Given the description of an element on the screen output the (x, y) to click on. 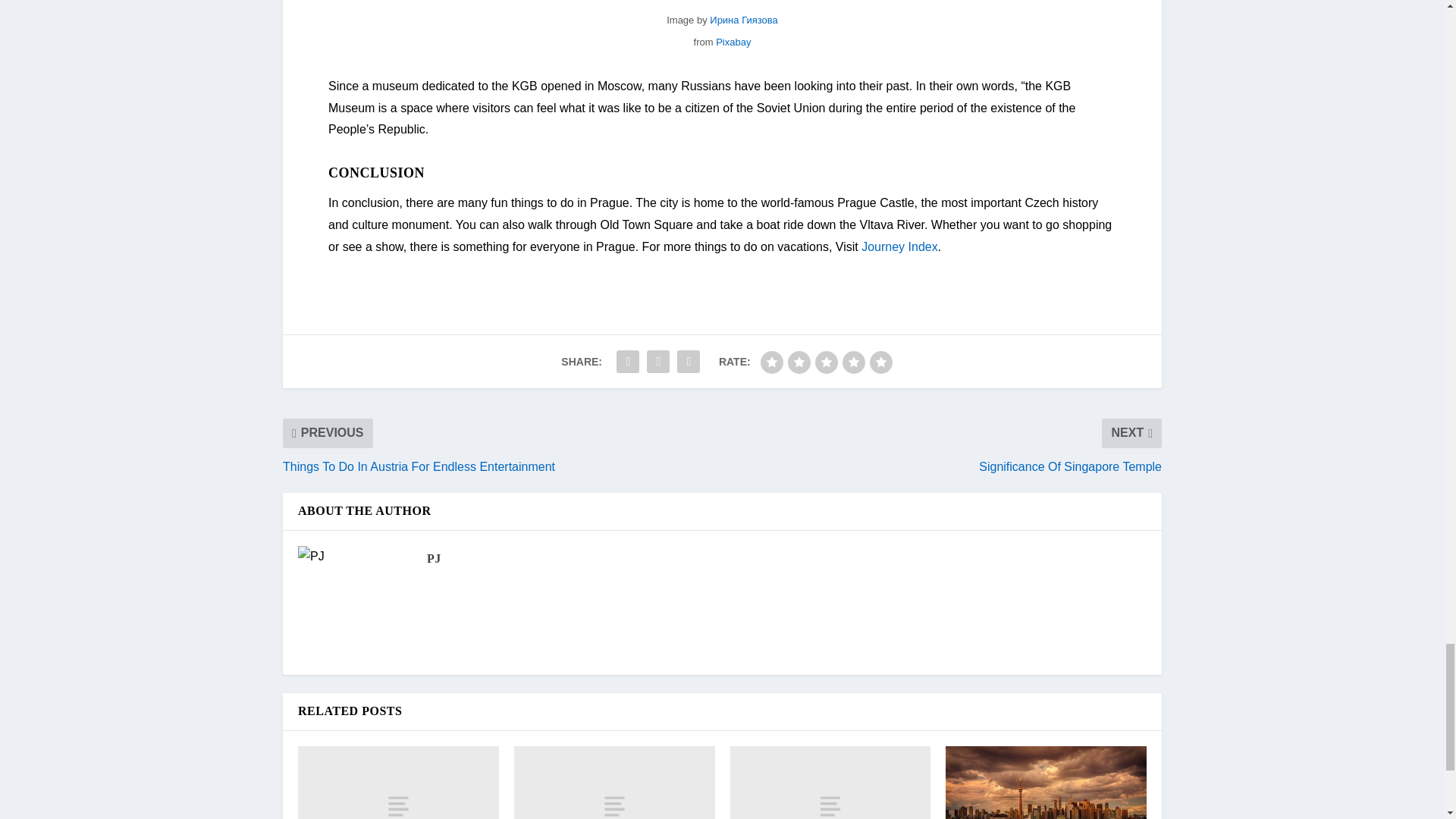
Journey Index (899, 246)
gorgeous (880, 362)
regular (826, 362)
Pixabay (733, 41)
Share "Best Things To Do In Prague" via Twitter (657, 361)
Share "Best Things To Do In Prague" via Facebook (627, 361)
poor (798, 362)
View all posts by PJ (433, 558)
bad (771, 362)
Share "Best Things To Do In Prague" via Pinterest (687, 361)
